Given the description of an element on the screen output the (x, y) to click on. 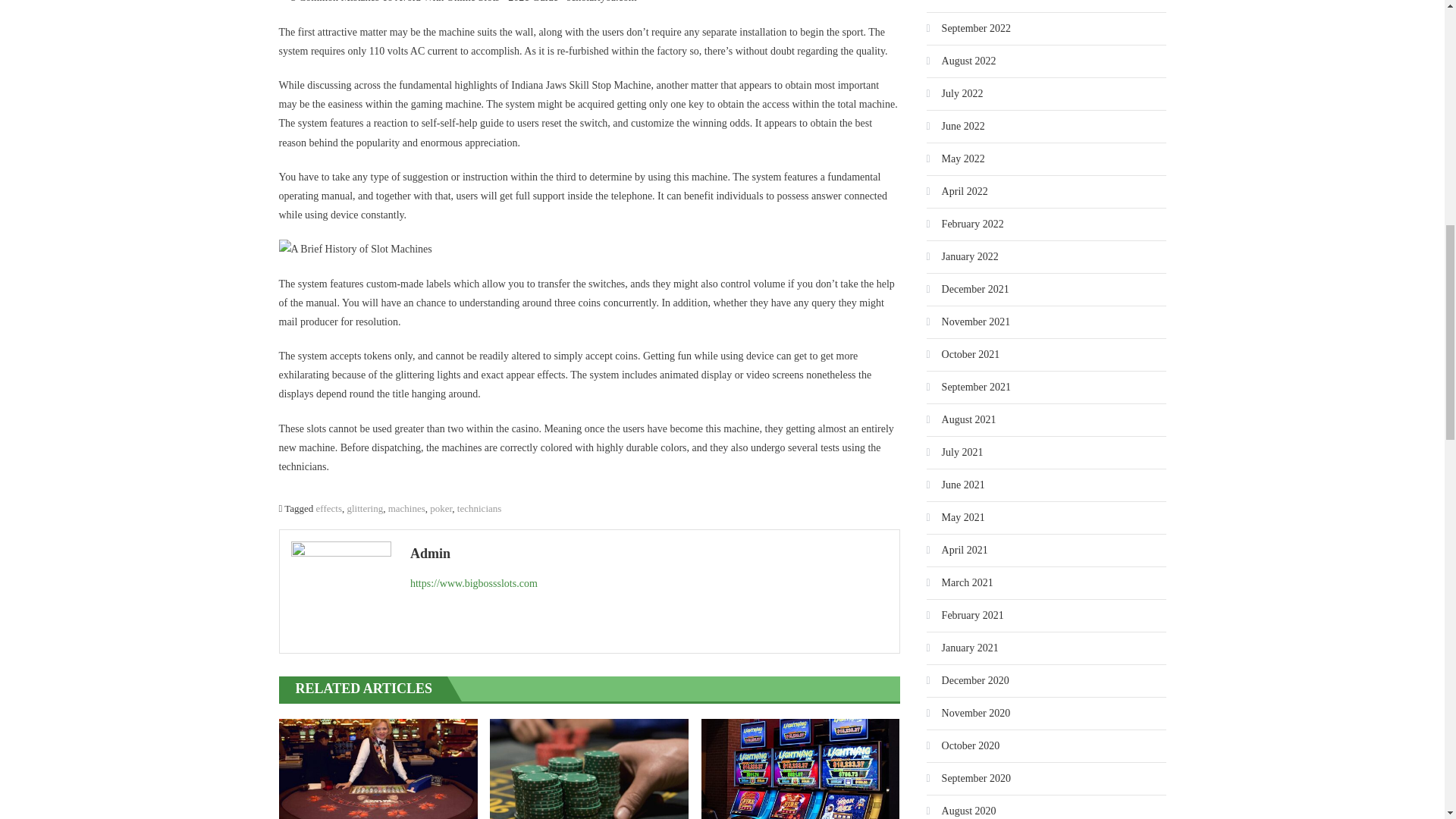
effects (328, 508)
machines (406, 508)
glittering (364, 508)
Arab138, play exciting Gacor Maxwin Slots (378, 769)
technicians (478, 508)
Admin (649, 553)
poker (440, 508)
